Given the description of an element on the screen output the (x, y) to click on. 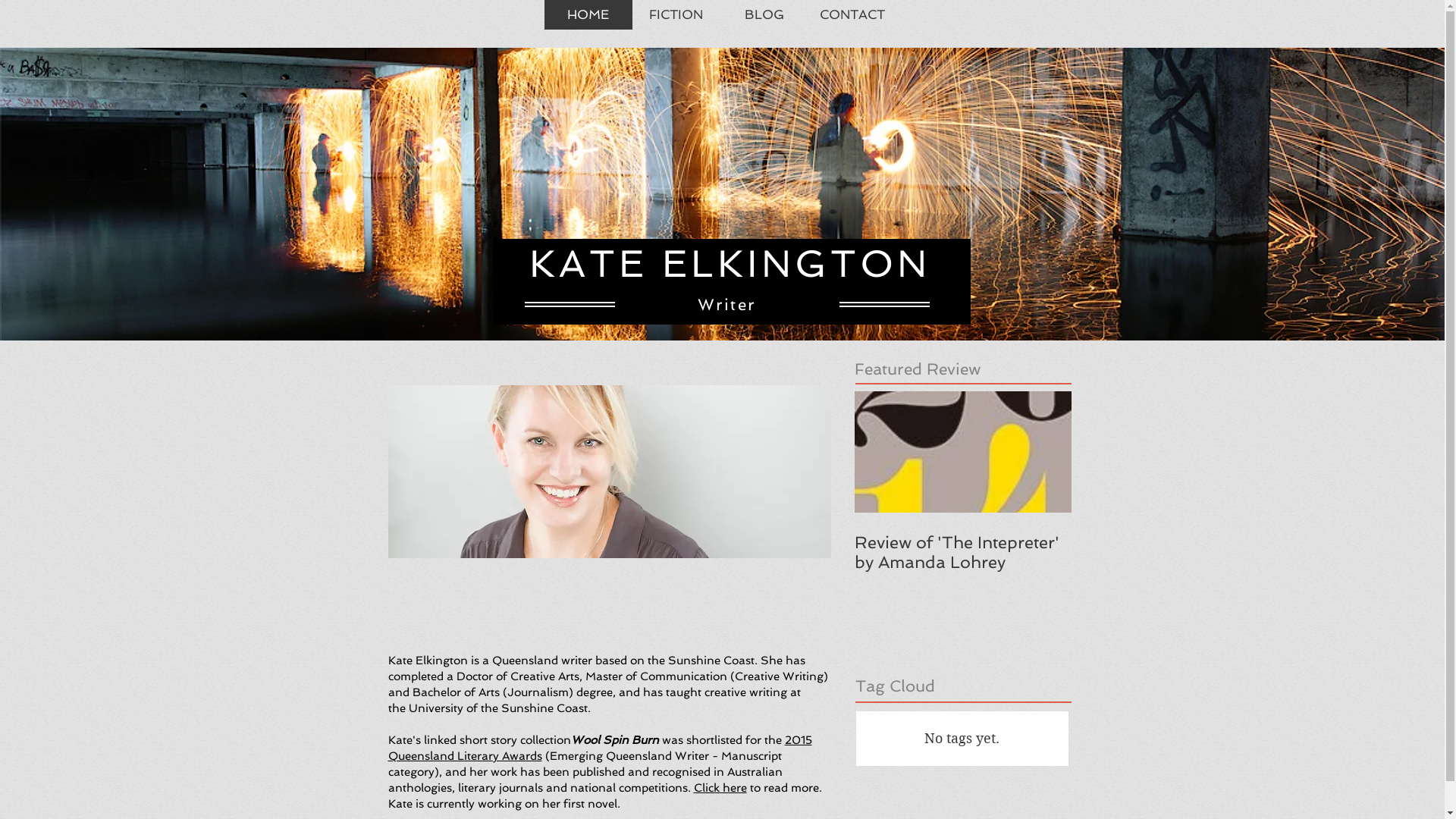
_53a2421_02.jpg Element type: hover (609, 471)
KATE ELKINGTON Element type: text (729, 263)
Review of 'The Intepreter' by Amanda Lohrey Element type: text (961, 551)
Click here Element type: text (719, 787)
2015 Queensland Literary Awards Element type: text (600, 747)
Twitter Follow Element type: hover (1032, 13)
